Given the description of an element on the screen output the (x, y) to click on. 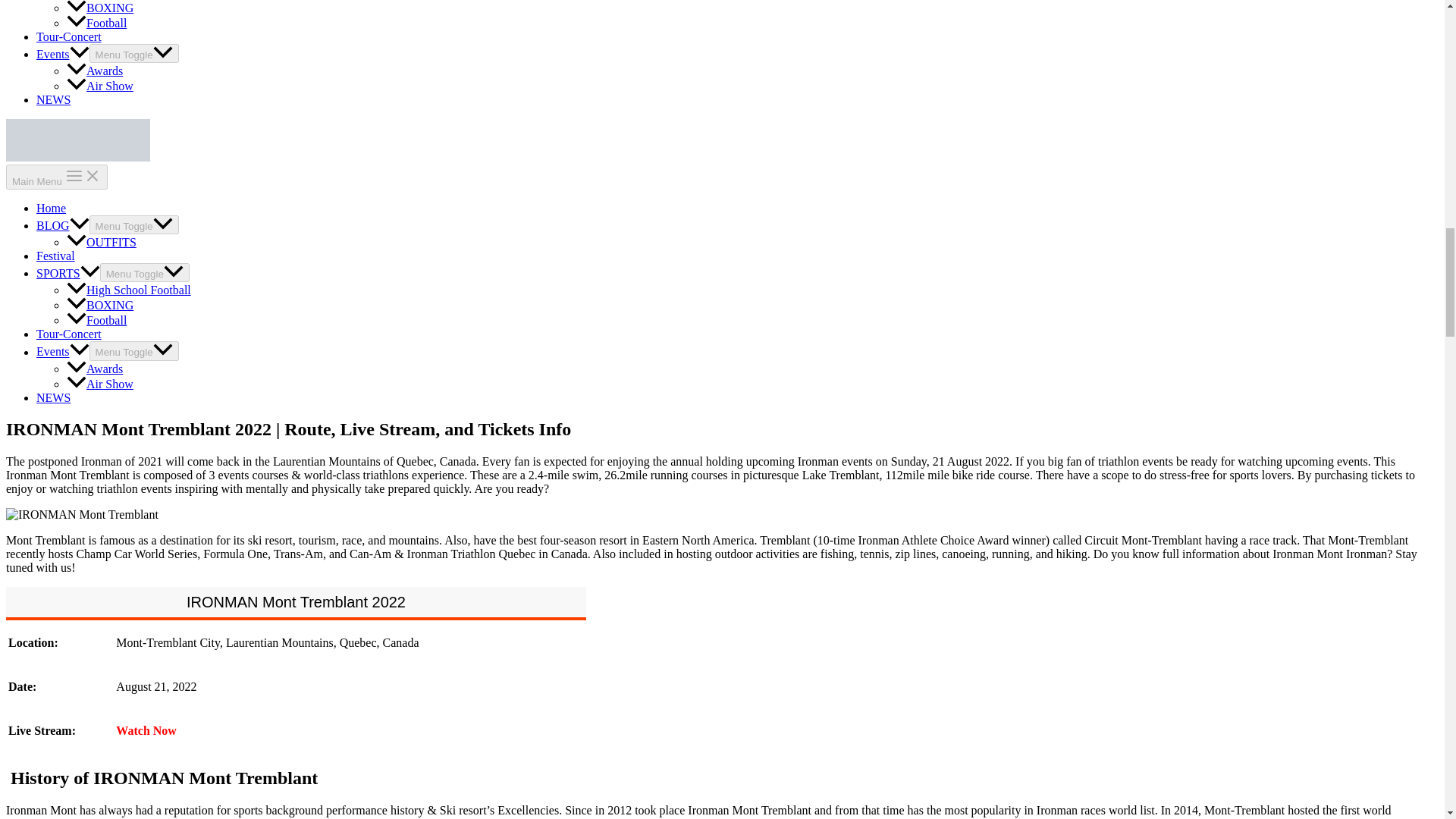
Tour-Concert (68, 36)
Menu Toggle (133, 53)
Air Show (99, 383)
Awards (94, 70)
Menu Toggle (144, 271)
Football (96, 22)
Tour-Concert (68, 333)
Air Show (99, 85)
Main Menu (56, 176)
SPORTS (68, 273)
Menu Toggle (133, 350)
Menu Toggle (133, 224)
BOXING (99, 305)
BOXING (99, 7)
High School Football (128, 289)
